Given the description of an element on the screen output the (x, y) to click on. 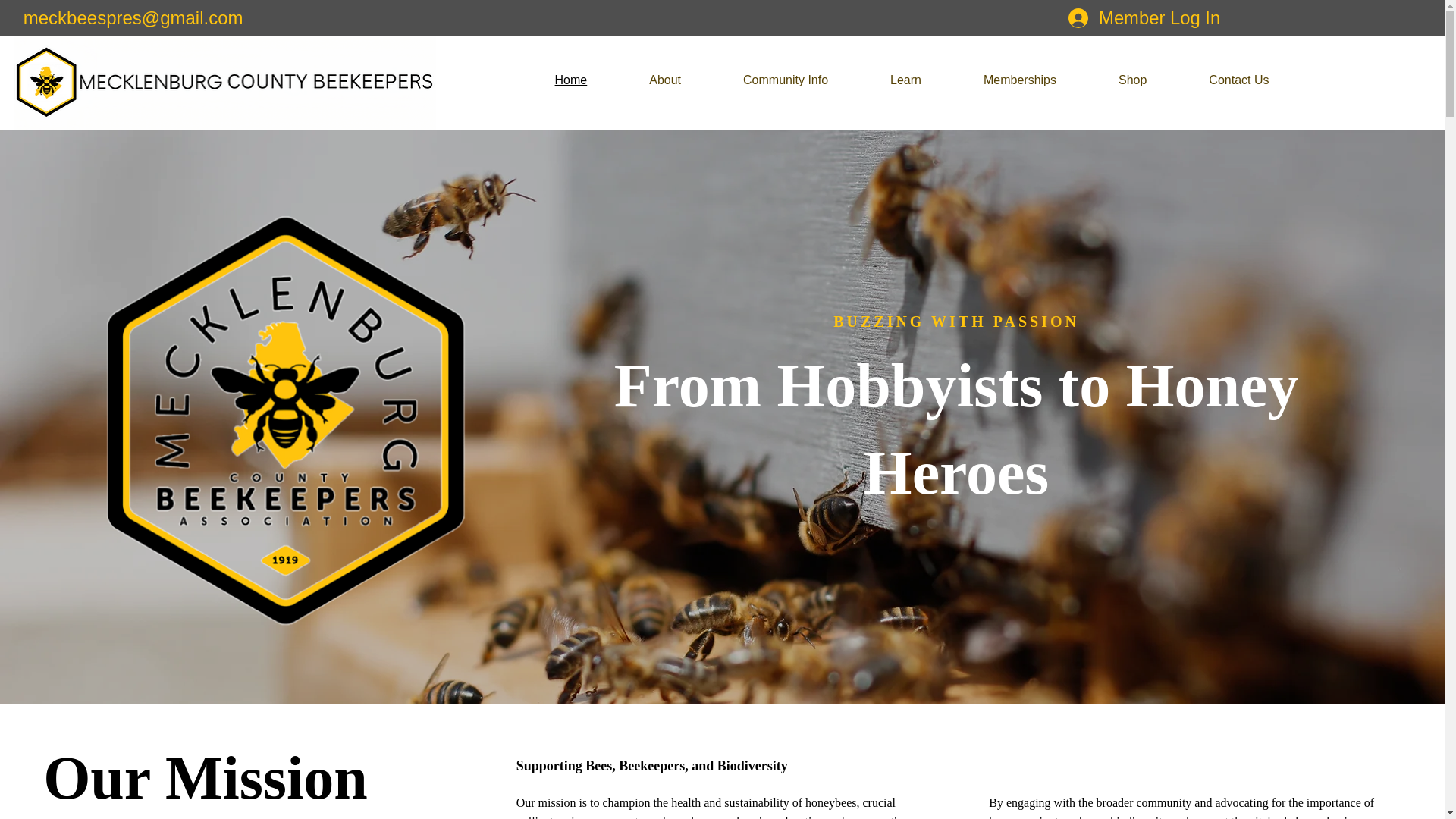
Memberships (999, 80)
Home (550, 80)
Contact Us (1218, 80)
Member Log In (1144, 17)
Shop (1112, 80)
